Given the description of an element on the screen output the (x, y) to click on. 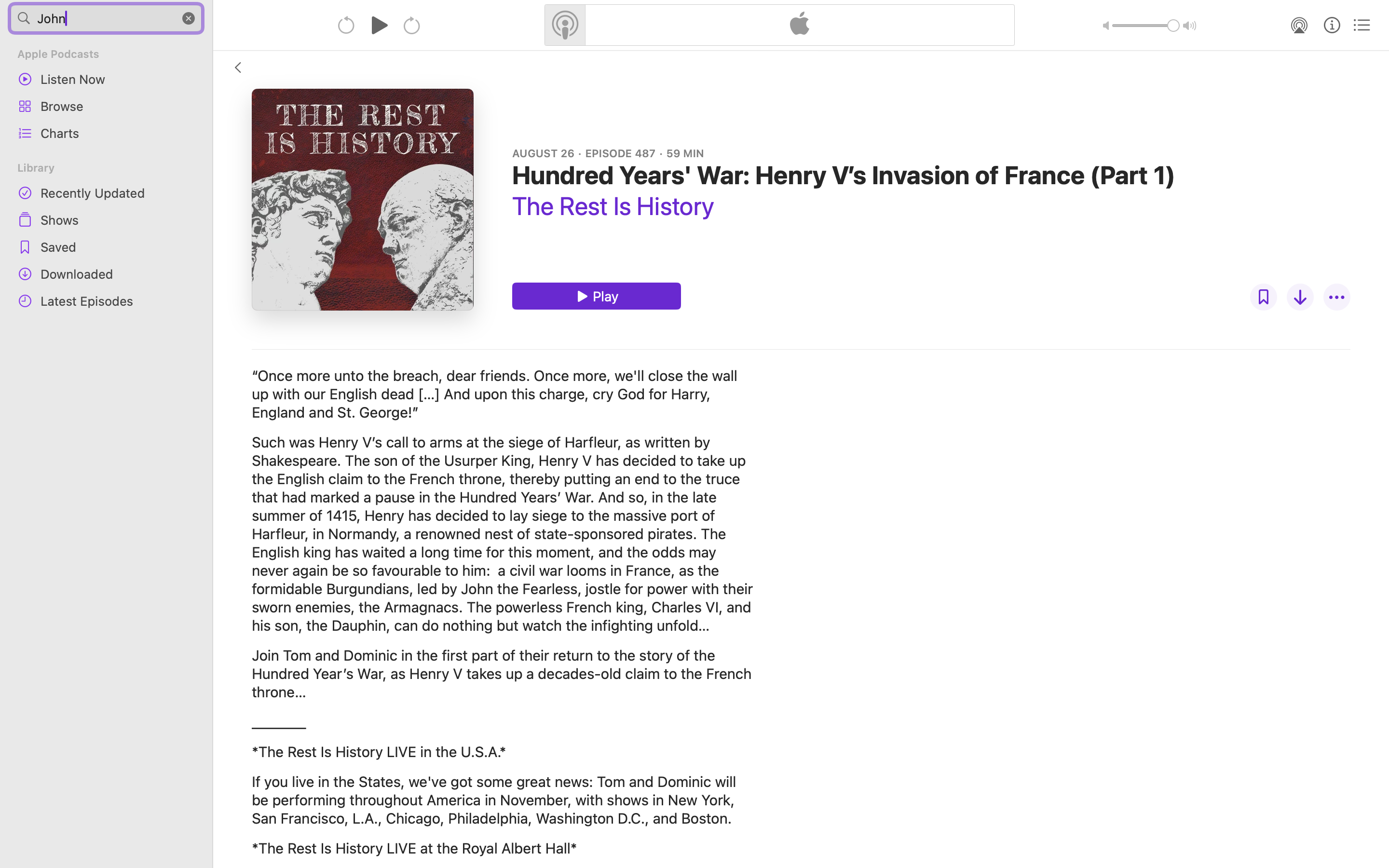
1.0 Element type: AXSlider (1145, 25)
Off Element type: AXButton (1263, 296)
Playback Progress 0% Element type: AXImage (362, 199)
John Element type: AXTextField (105, 17)
